Given the description of an element on the screen output the (x, y) to click on. 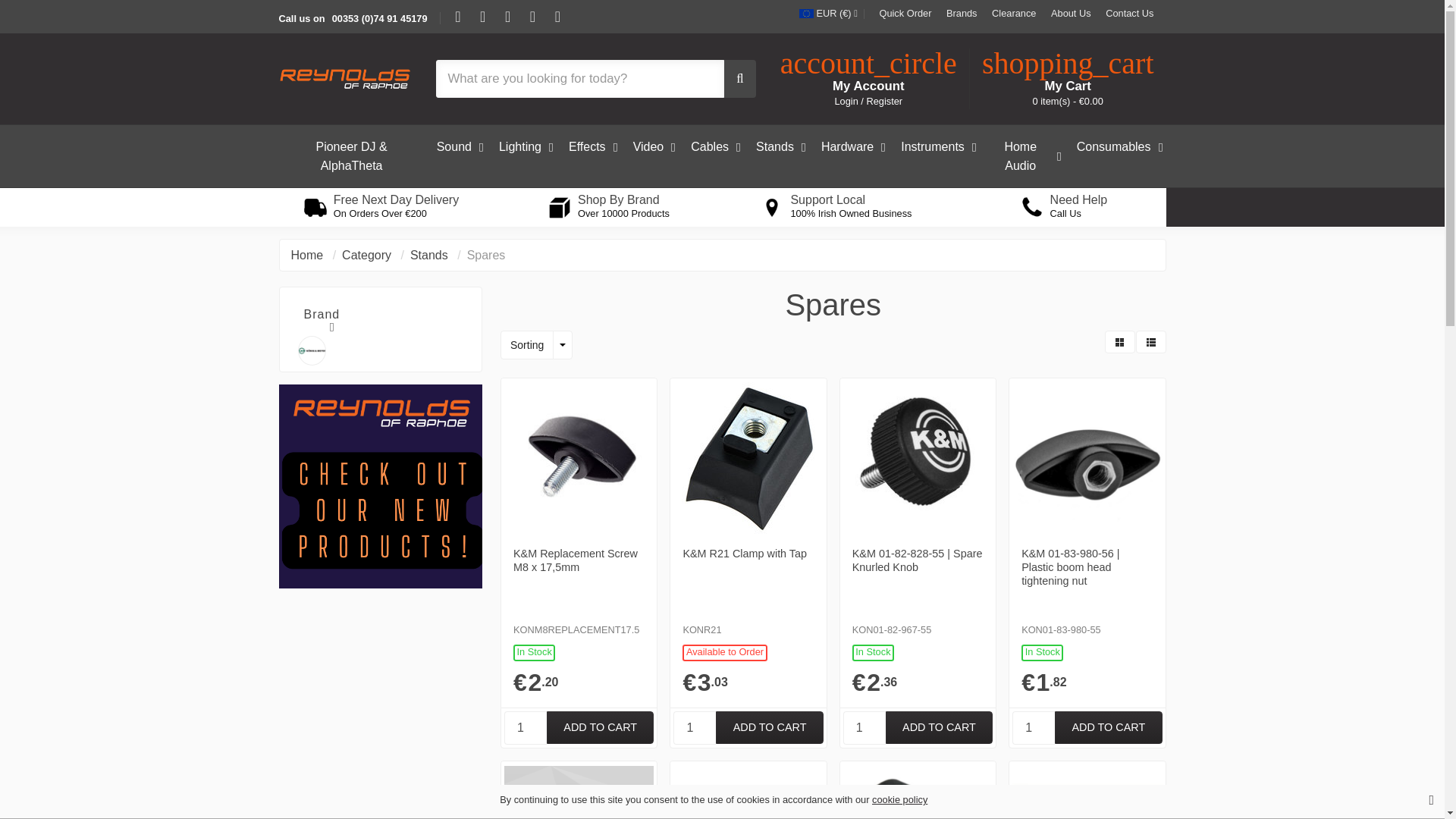
Quantity input (525, 727)
Quantity input (694, 727)
1 (1032, 727)
Contact Us (1129, 13)
KON01-83-980-55 (1107, 727)
KONR21 (769, 727)
Grid view (1118, 341)
Quick Order (905, 13)
1 (864, 727)
1 (525, 727)
